Given the description of an element on the screen output the (x, y) to click on. 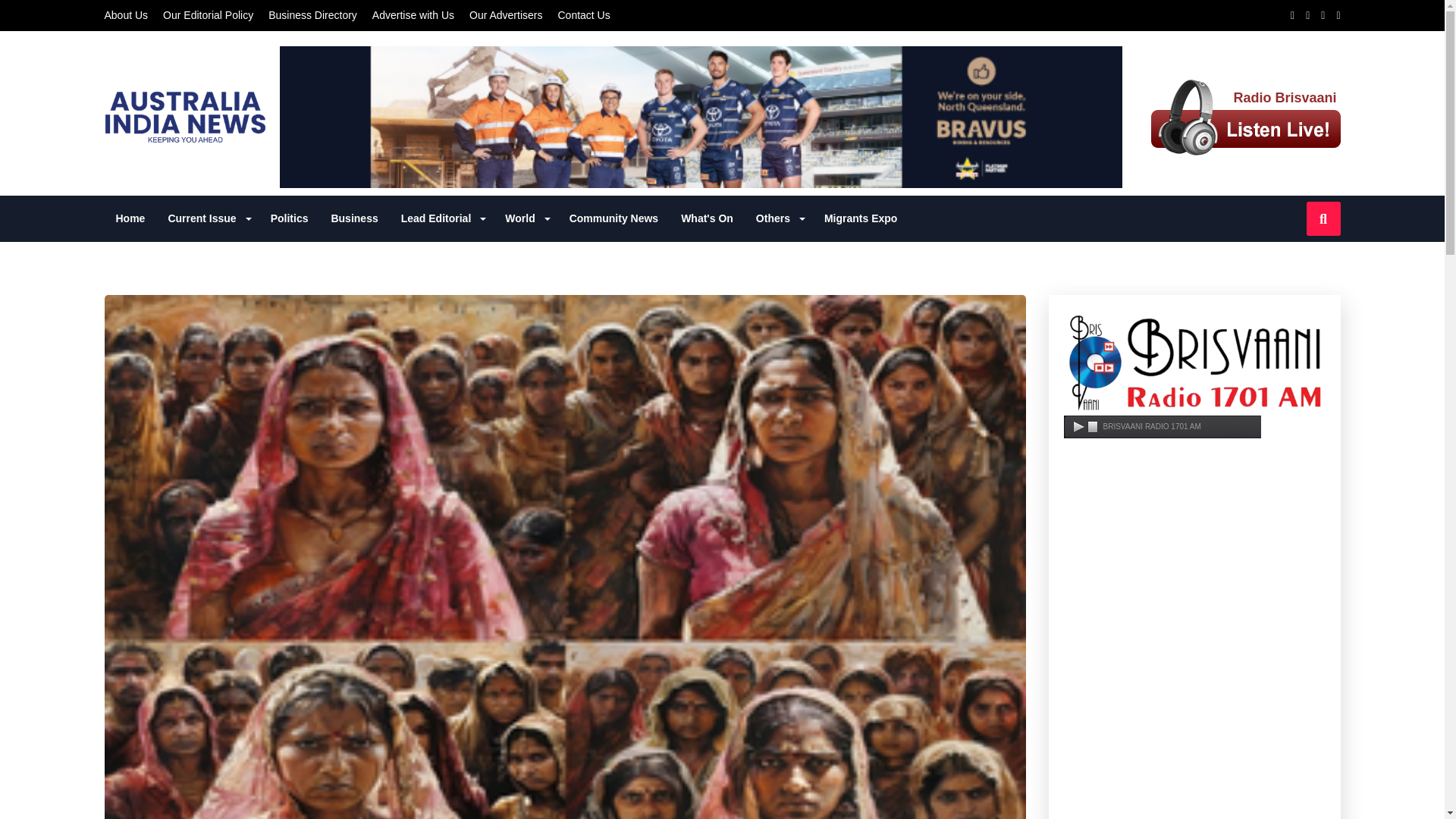
What's On (706, 218)
Our Editorial Policy (208, 15)
Advertise with Us (413, 15)
Migrants Expo (860, 218)
YouTube video player (1193, 771)
Our Advertisers (504, 15)
Business (353, 218)
YouTube video player (1193, 522)
YouTube video player (1193, 652)
Community News (613, 218)
Politics (289, 218)
Home (130, 218)
bravus-banner-1 (700, 116)
Current Issue (207, 218)
Lead Editorial (442, 218)
